Given the description of an element on the screen output the (x, y) to click on. 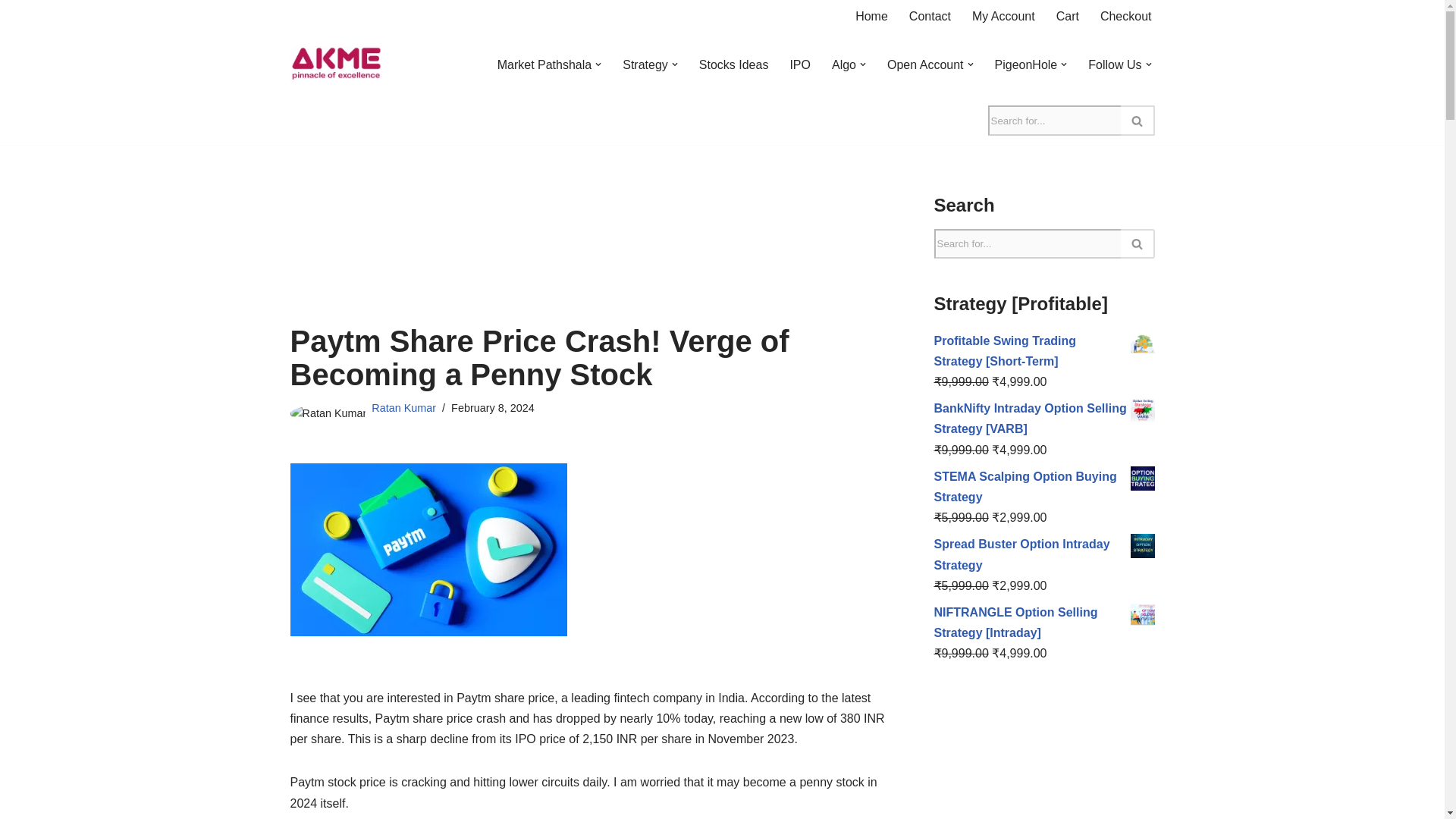
Skip to content (11, 31)
Market Pathshala (544, 64)
IPO (799, 64)
Posts by Ratan Kumar (403, 408)
Open Account (924, 64)
Cart (1067, 15)
Strategy (645, 64)
Checkout (1125, 15)
Algo (843, 64)
Stocks Ideas (733, 64)
My Account (1003, 15)
PigeonHole (1026, 64)
Contact (929, 15)
Home (872, 15)
